Given the description of an element on the screen output the (x, y) to click on. 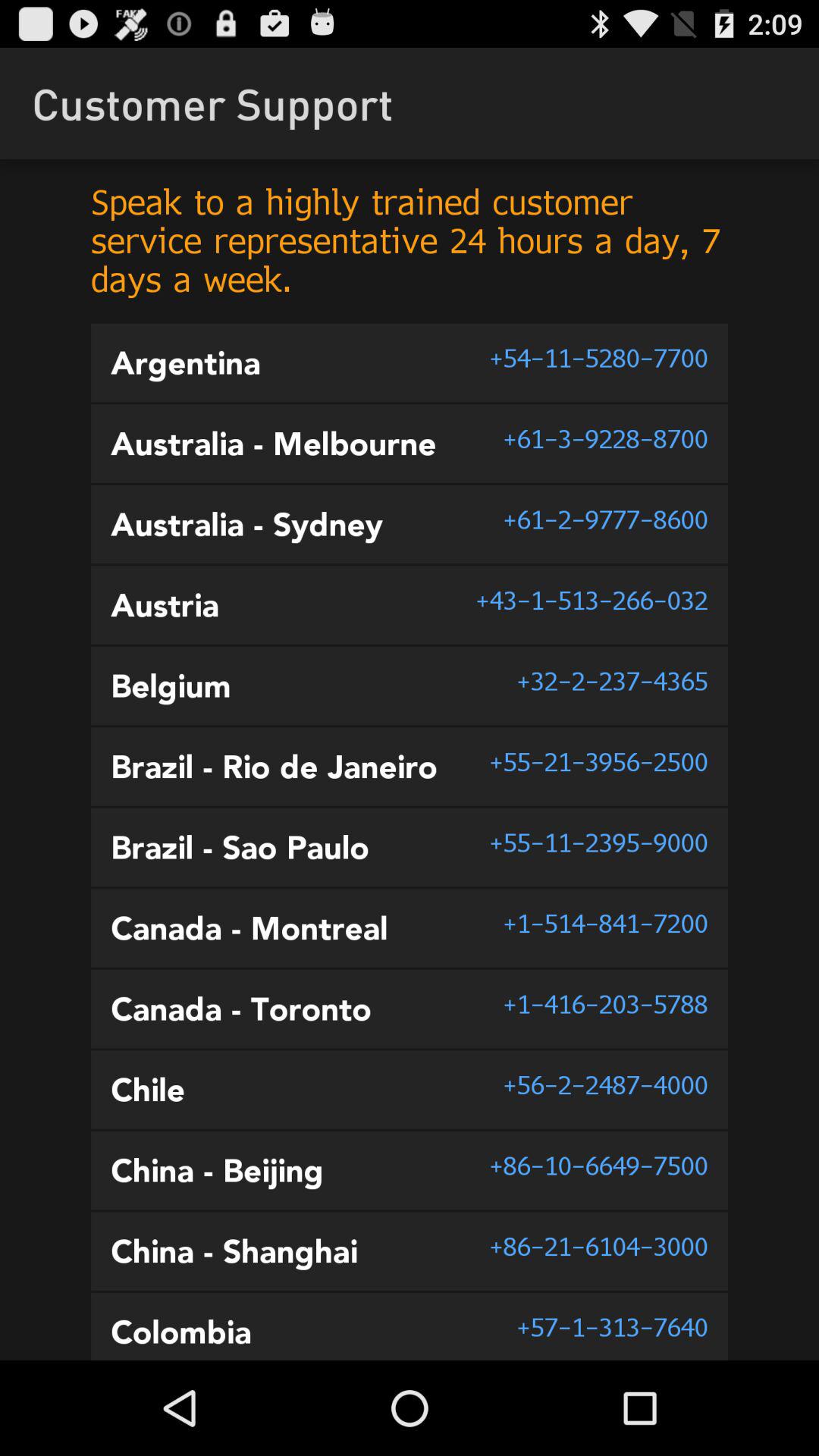
press icon above 57 1 313 (598, 1245)
